Given the description of an element on the screen output the (x, y) to click on. 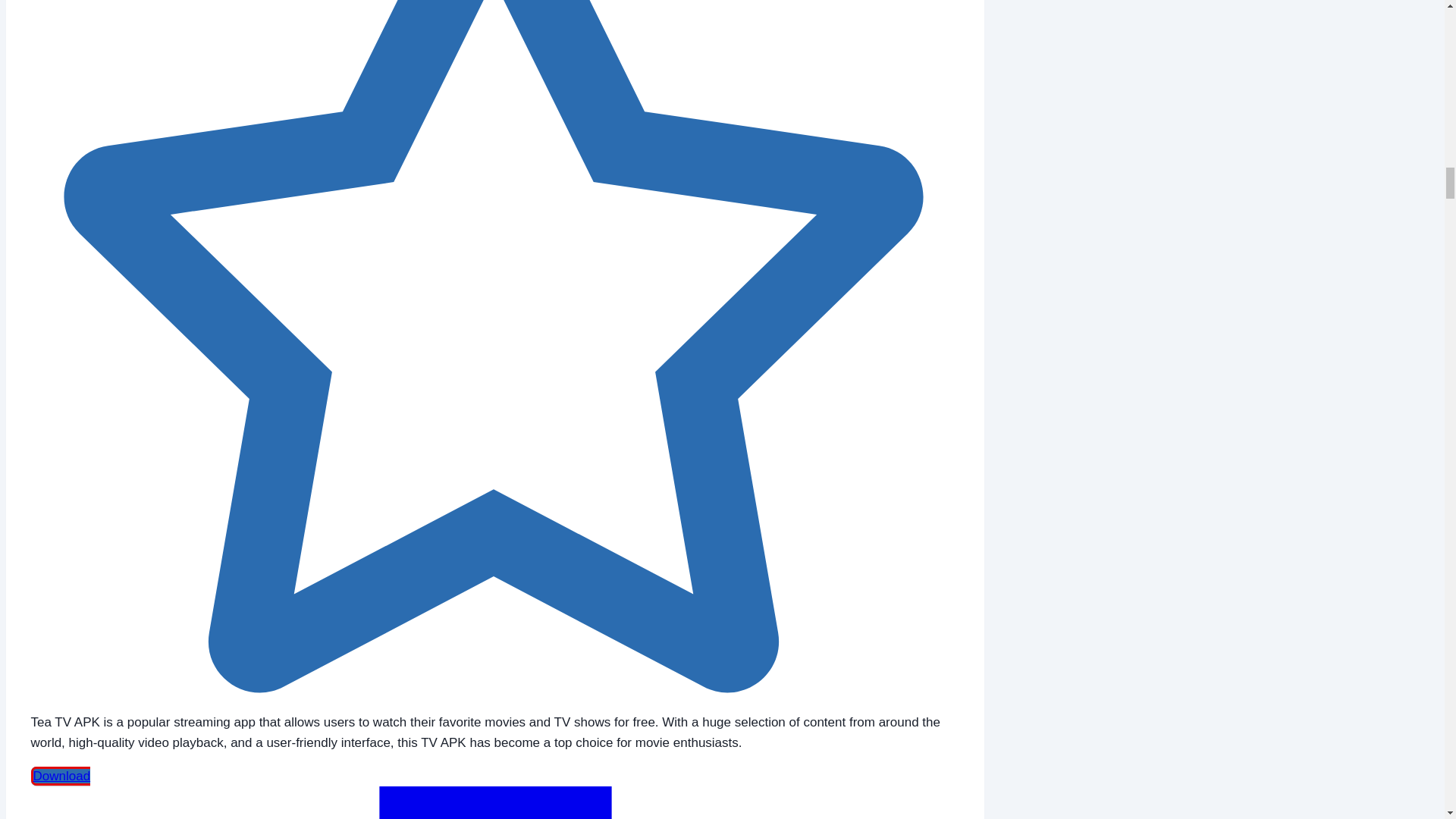
Download (495, 792)
